Given the description of an element on the screen output the (x, y) to click on. 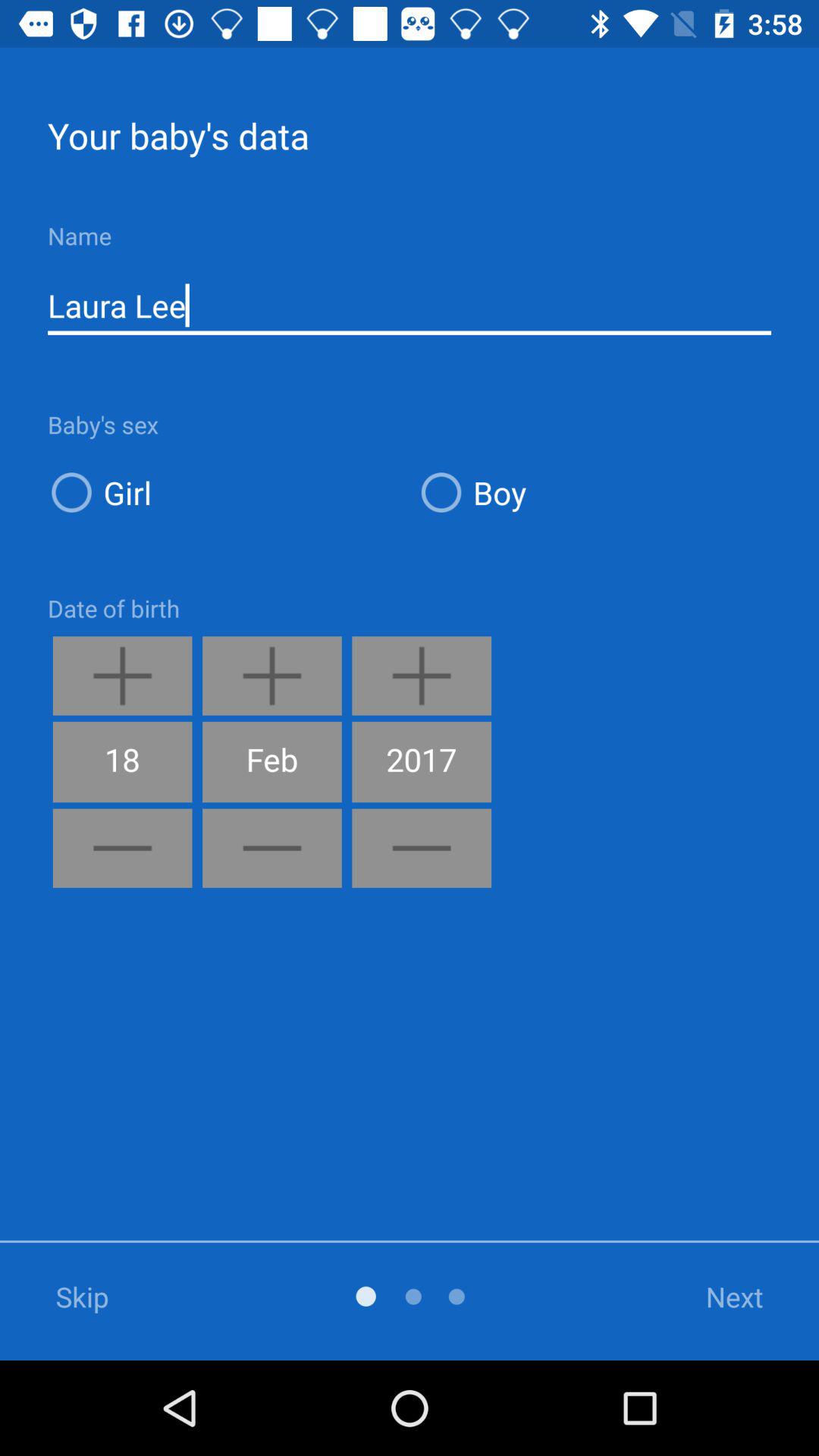
turn on 2017 icon (421, 761)
